Given the description of an element on the screen output the (x, y) to click on. 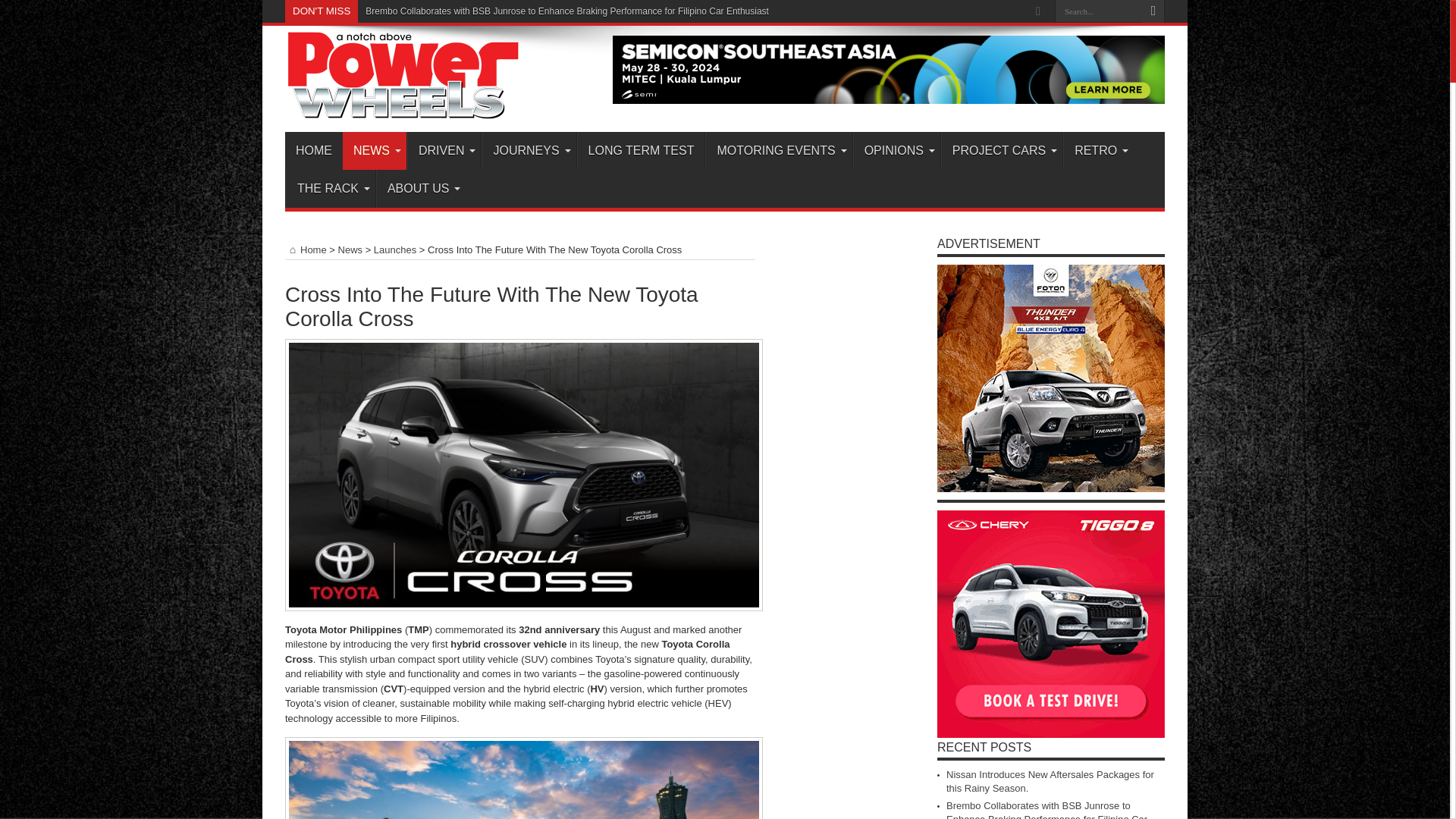
Search (1152, 11)
Power Wheels Magazine (403, 108)
NEWS (374, 150)
DRIVEN (443, 150)
Search... (1097, 11)
HOME (313, 150)
JOURNEYS (528, 150)
